Given the description of an element on the screen output the (x, y) to click on. 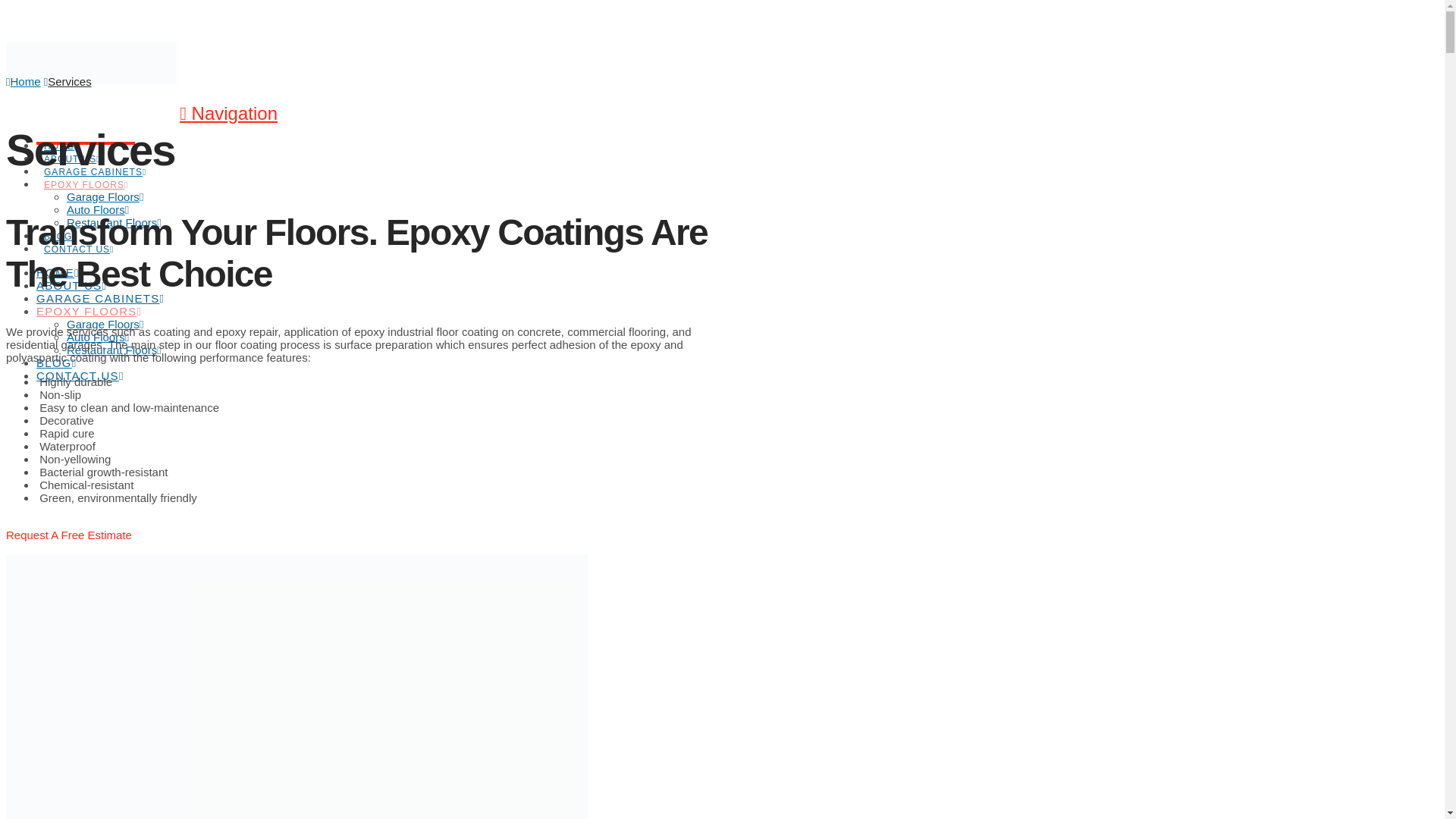
Restaurant Floors (113, 349)
BLOG (56, 362)
GARAGE CABINETS (94, 152)
CONTACT US (79, 375)
ABOUT US (71, 285)
EPOXY FLOORS (88, 310)
Auto Floors (97, 209)
HOME (60, 127)
BLOG (59, 217)
Request A Free Estimate (68, 541)
Garage Floors (104, 196)
Services (69, 81)
You Are Here (69, 81)
Garage Floors (104, 323)
Restaurant Floors (113, 222)
